Given the description of an element on the screen output the (x, y) to click on. 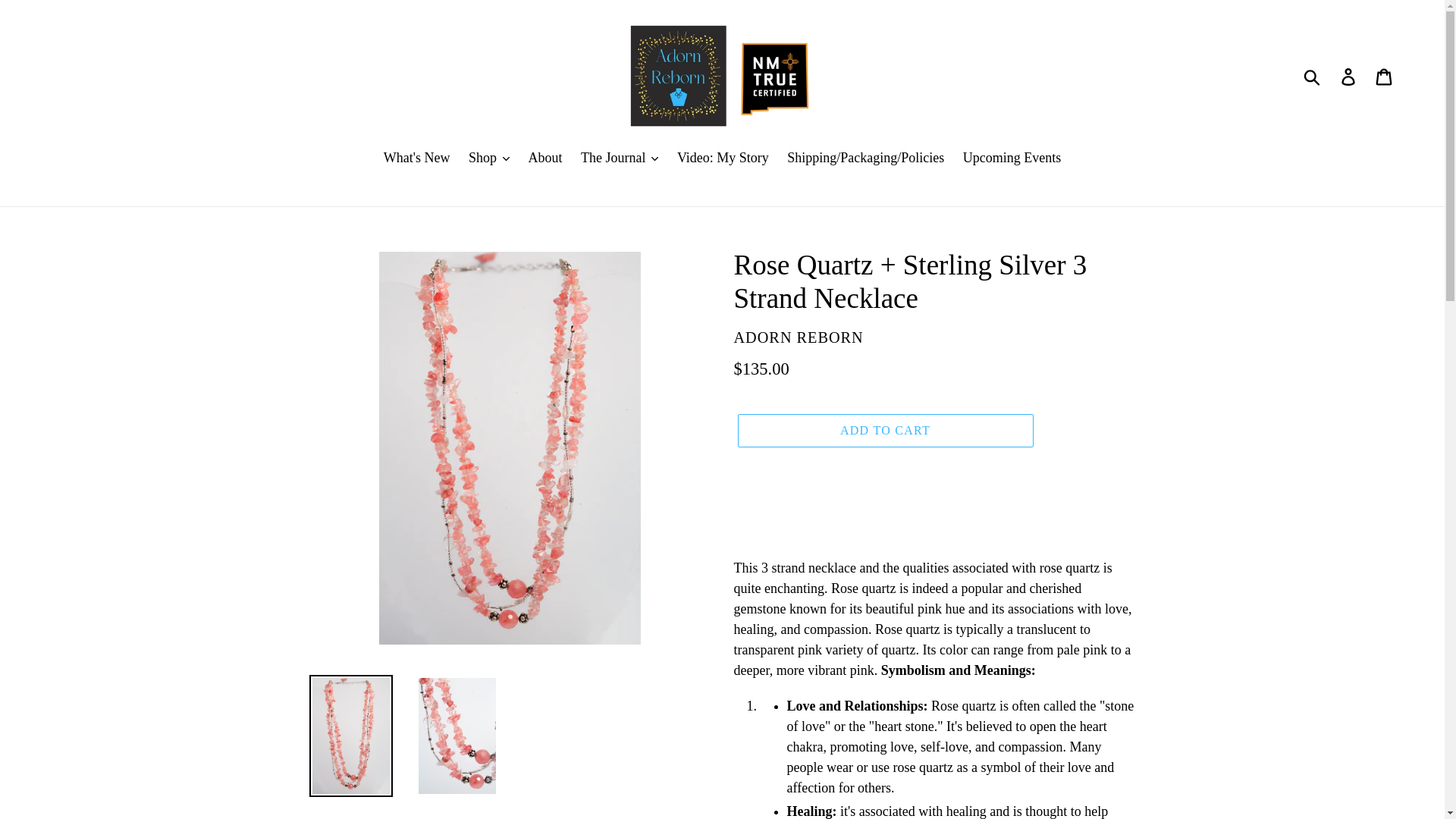
Submit (1313, 75)
Cart (1385, 75)
Log in (1349, 75)
